Given the description of an element on the screen output the (x, y) to click on. 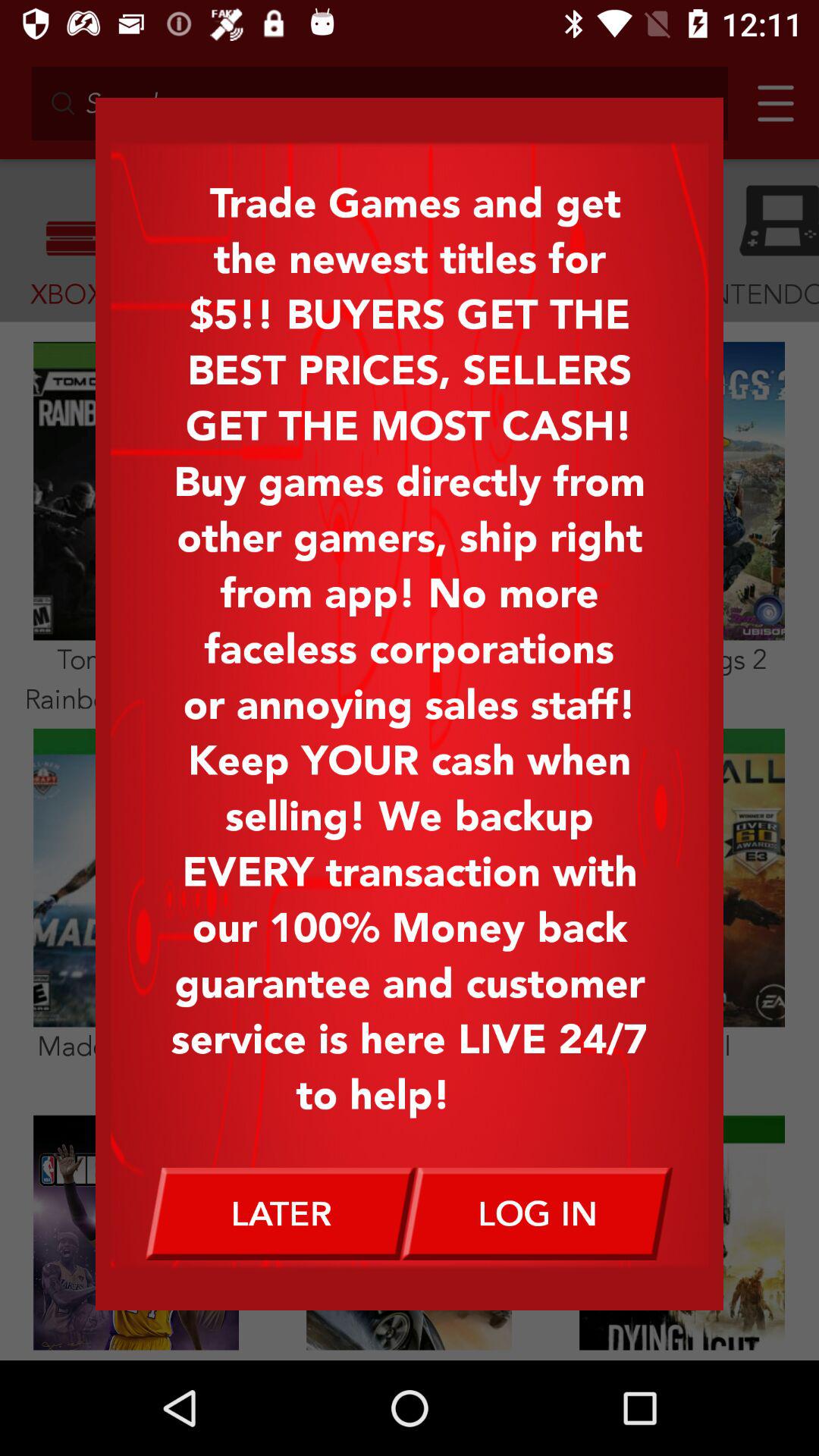
tap log in item (537, 1213)
